Given the description of an element on the screen output the (x, y) to click on. 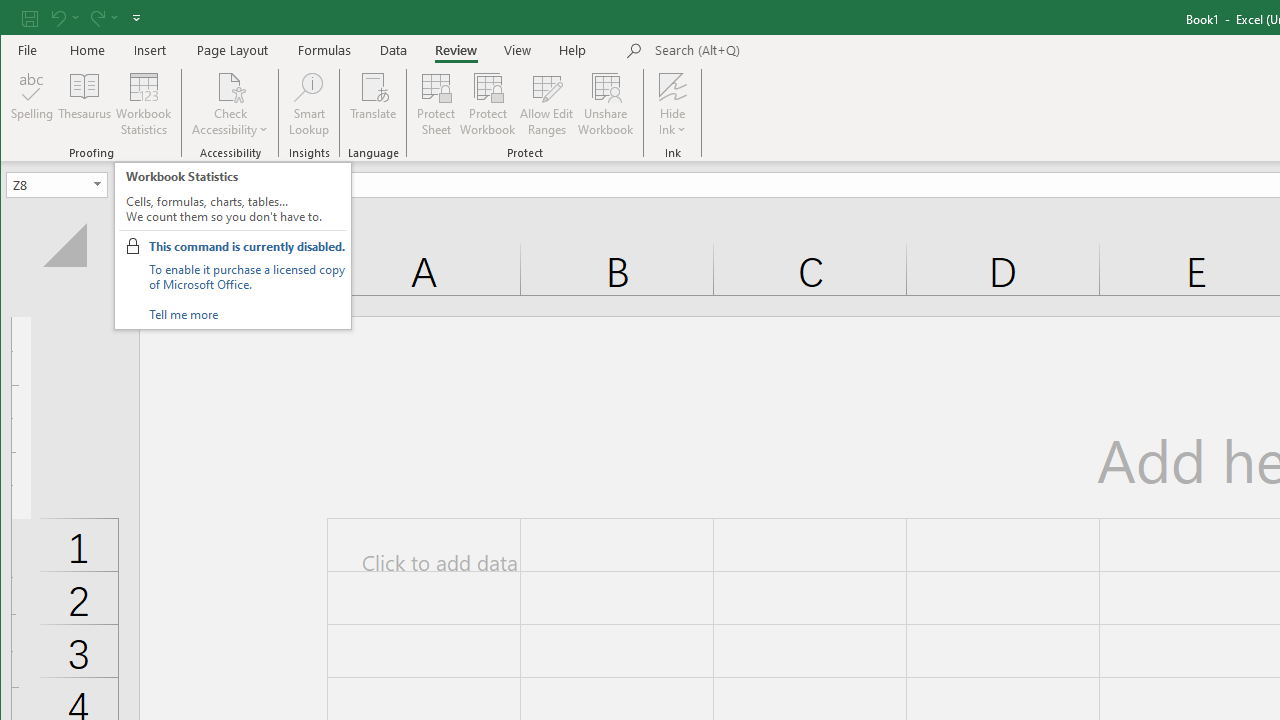
Hide Ink (672, 104)
Name Box (56, 184)
Review (456, 50)
Check Accessibility (230, 104)
Hide Ink (672, 86)
Save (29, 17)
Help (573, 50)
Formulas (325, 50)
Translate (373, 104)
Check Accessibility (230, 86)
